Given the description of an element on the screen output the (x, y) to click on. 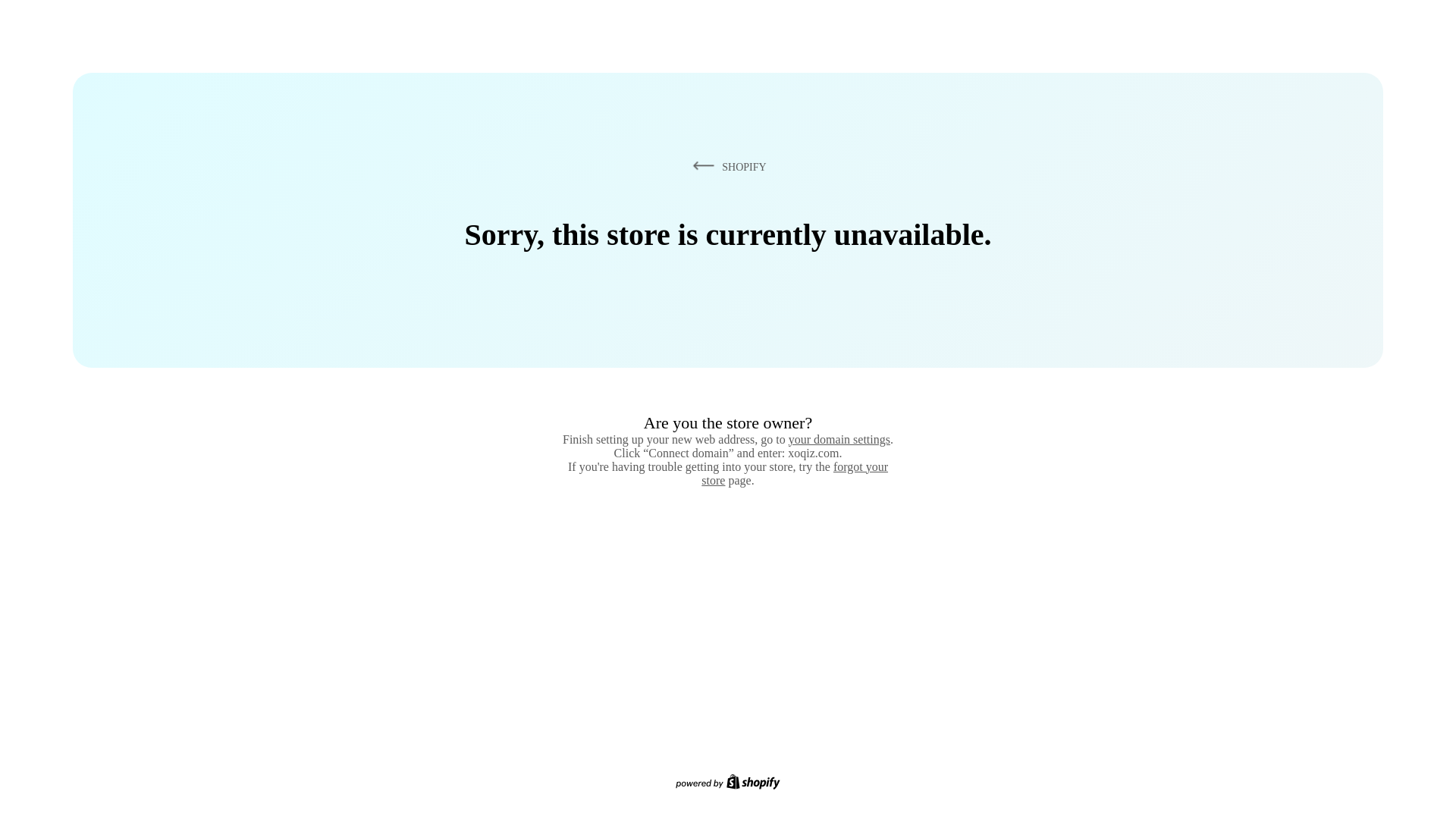
your domain settings (839, 439)
forgot your store (794, 473)
SHOPIFY (726, 166)
